Given the description of an element on the screen output the (x, y) to click on. 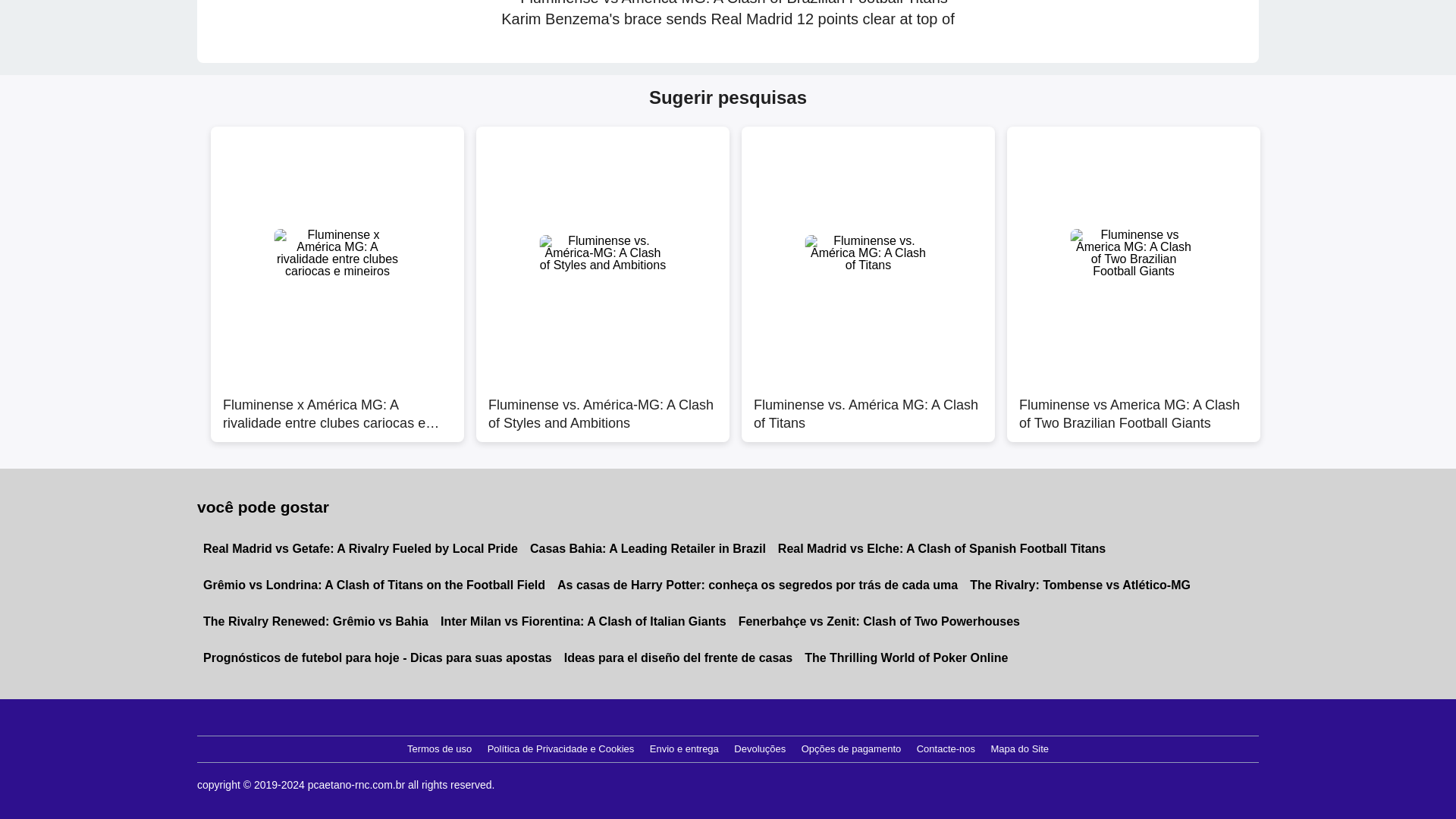
Casas Bahia: A Leading Retailer in Brazil (647, 548)
Real Madrid vs Getafe: A Rivalry Fueled by Local Pride (360, 548)
The Thrilling World of Poker Online (905, 657)
Real Madrid vs Elche: A Clash of Spanish Football Titans (941, 548)
Inter Milan vs Fiorentina: A Clash of Italian Giants (582, 621)
Termos de uso (439, 749)
Envio e entrega (684, 749)
Contacte-nos (946, 749)
